Given the description of an element on the screen output the (x, y) to click on. 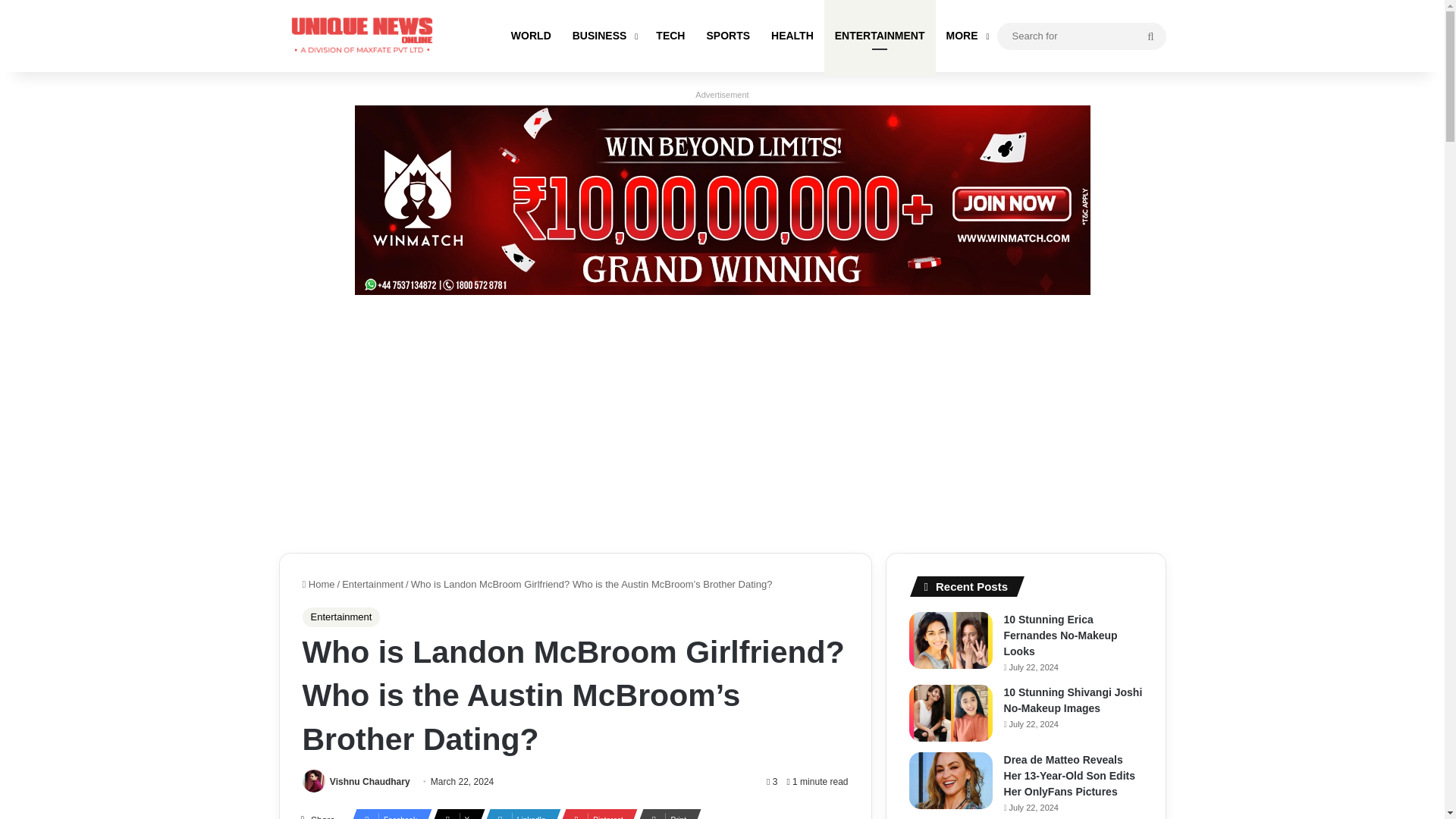
Entertainment (372, 583)
Search for (1150, 35)
Print (663, 813)
ENTERTAINMENT (880, 36)
Print (663, 813)
Home (317, 583)
LinkedIn (516, 813)
Unique News Online (362, 35)
X (452, 813)
winmatch (722, 198)
X (452, 813)
Pinterest (592, 813)
Facebook (385, 813)
LinkedIn (516, 813)
Entertainment (340, 617)
